Given the description of an element on the screen output the (x, y) to click on. 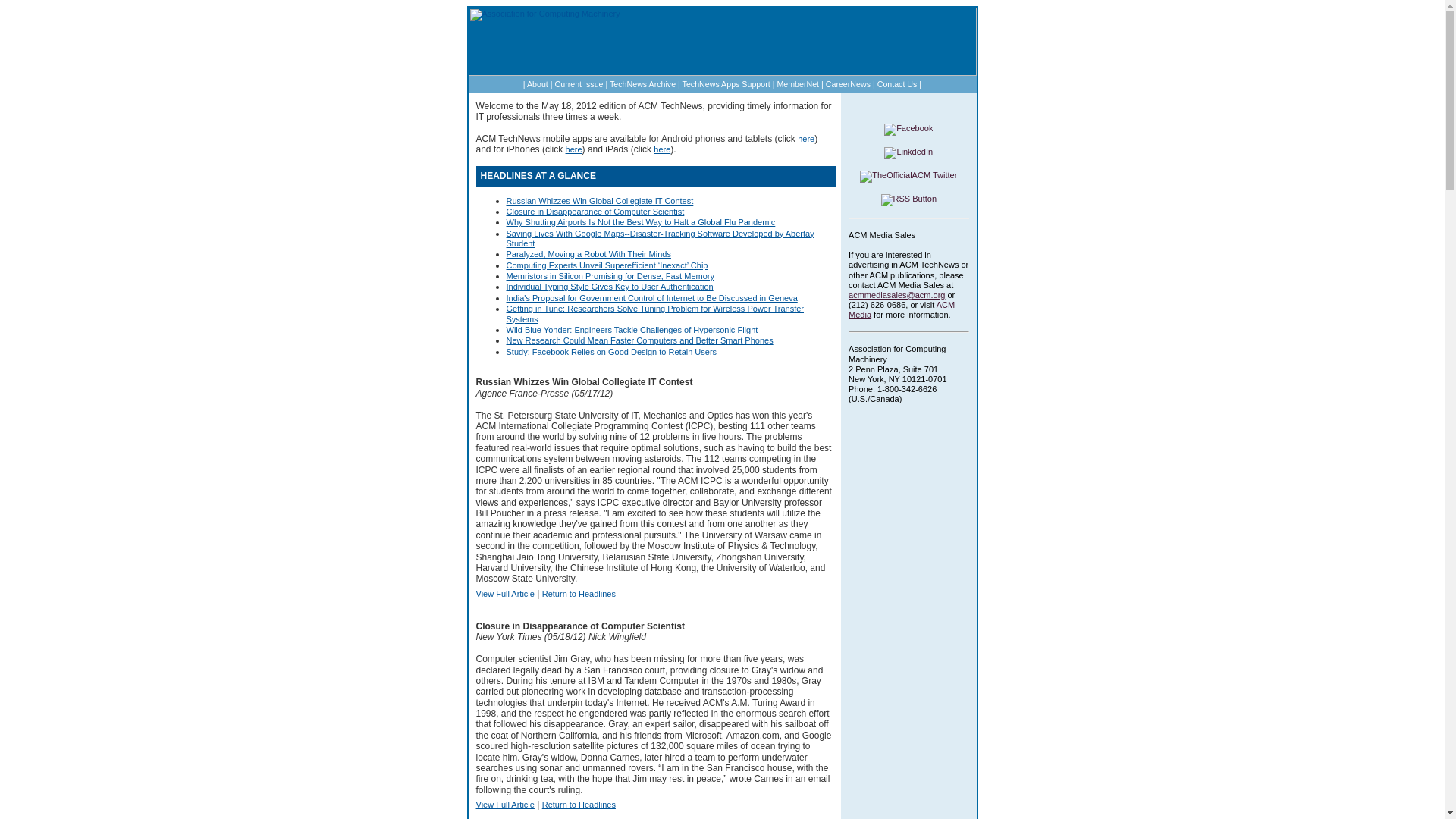
Contact Us (897, 83)
MemberNet (797, 83)
View Full Article (505, 804)
here (574, 148)
here (805, 138)
Individual Typing Style Gives Key to User Authentication (609, 286)
Return to Headlines (578, 804)
Russian Whizzes Win Global Collegiate IT Contest (600, 200)
